Given the description of an element on the screen output the (x, y) to click on. 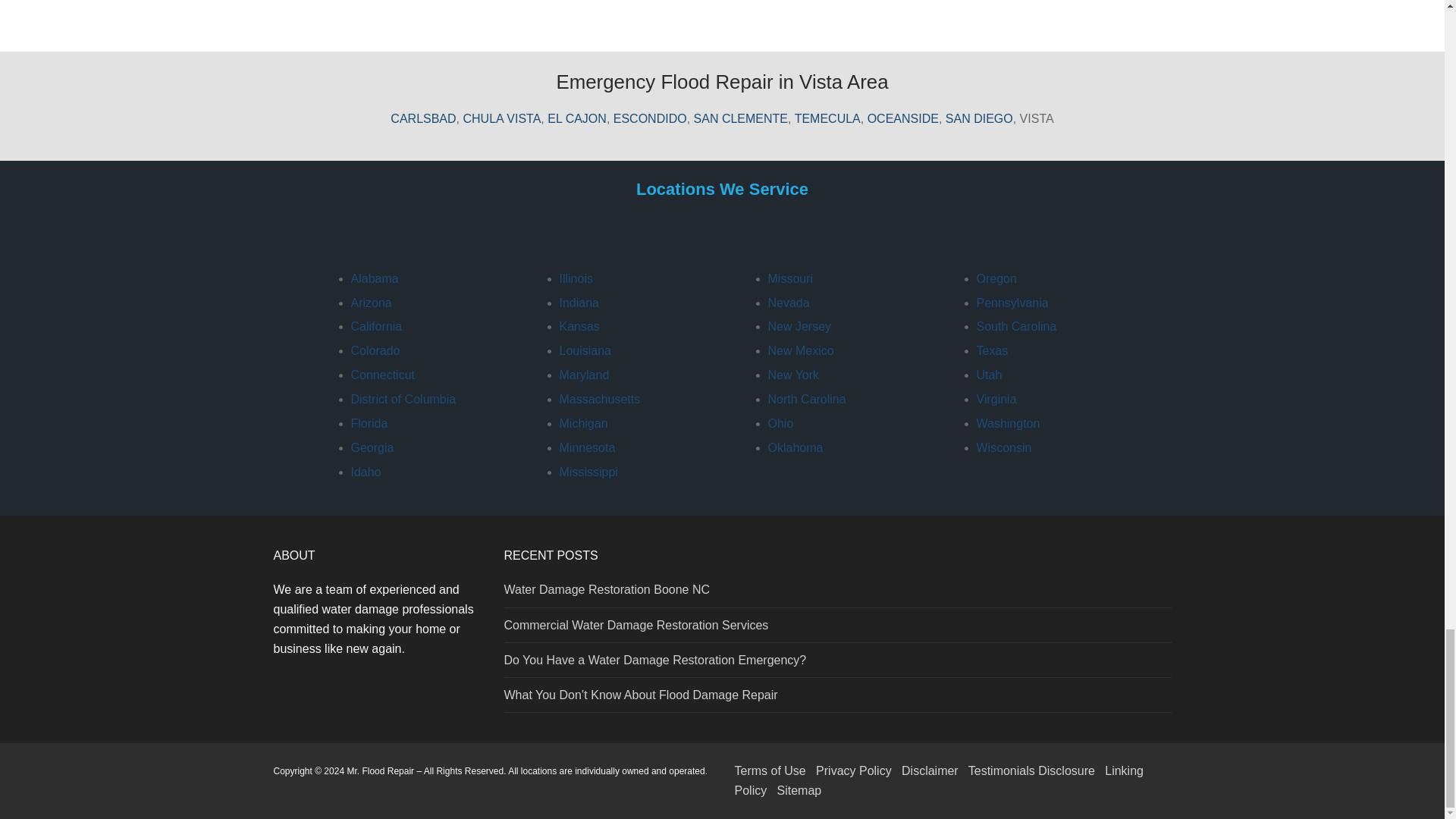
EL CAJON (577, 118)
CARLSBAD (422, 118)
CHULA VISTA (501, 118)
